Given the description of an element on the screen output the (x, y) to click on. 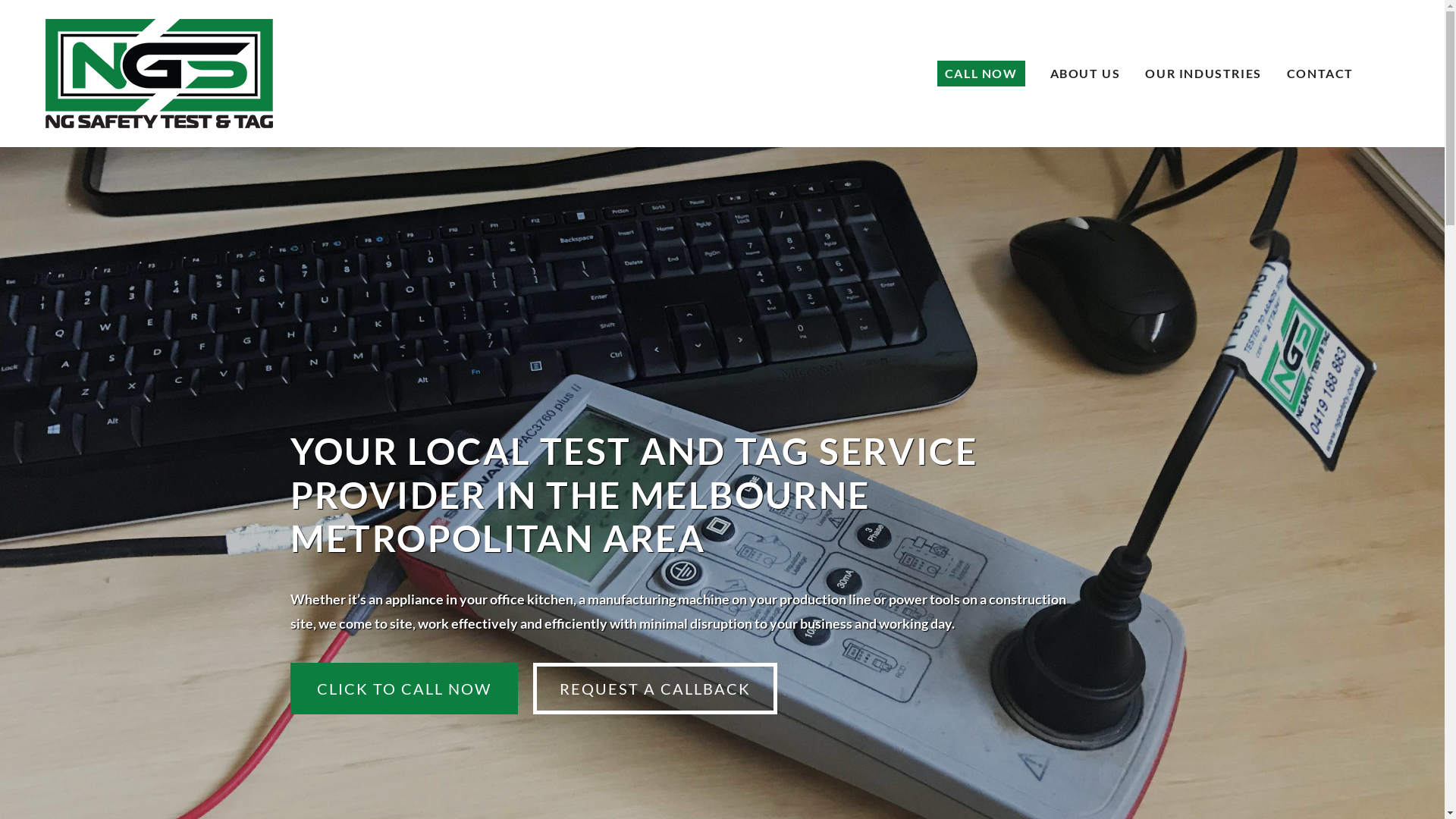
OUR INDUSTRIES Element type: text (1203, 73)
REQUEST A CALLBACK Element type: text (654, 688)
CLICK TO CALL NOW Element type: text (403, 688)
ABOUT US Element type: text (1085, 73)
CONTACT Element type: text (1319, 73)
Built Agency Element type: text (159, 787)
CALL NOW Element type: text (980, 73)
